Given the description of an element on the screen output the (x, y) to click on. 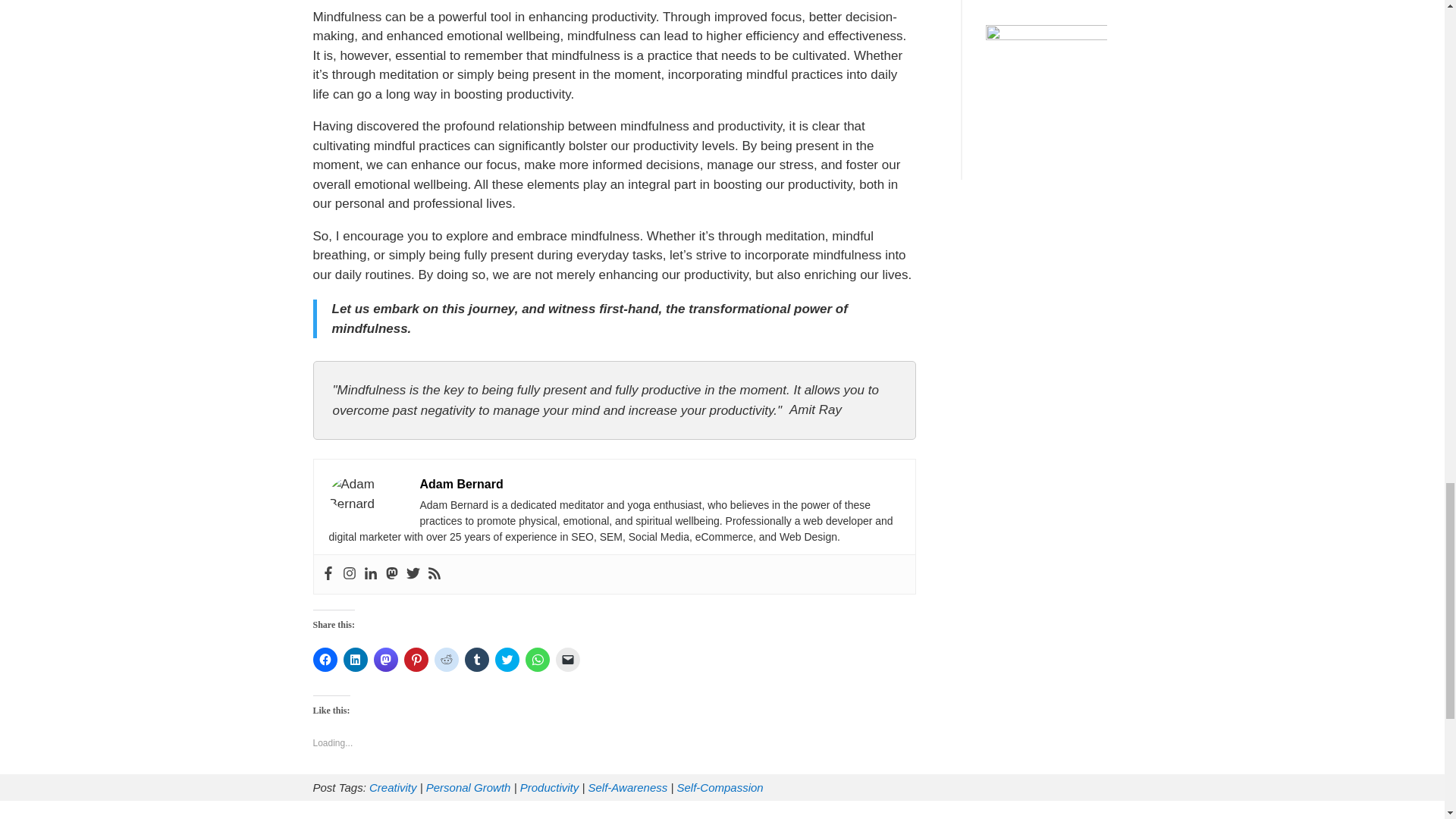
Mastodont (391, 574)
Rss (434, 574)
Instagram (349, 574)
Facebook (327, 574)
Enhancing Productivity through Mindfulness - AdamBernard.com (366, 494)
Twitter (413, 574)
Adam Bernard (461, 483)
Linkedin (370, 574)
